Given the description of an element on the screen output the (x, y) to click on. 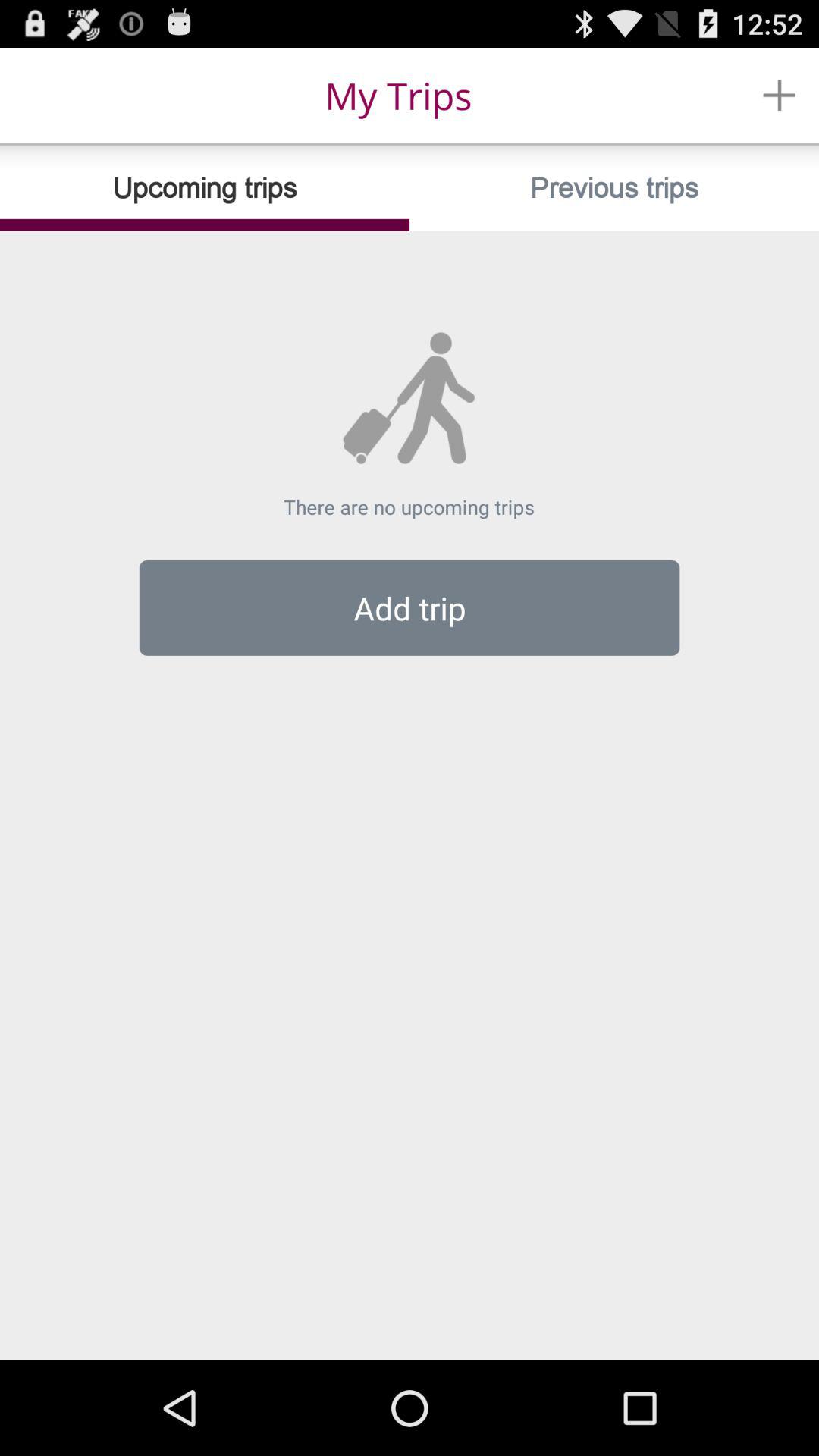
add a trip (779, 95)
